Given the description of an element on the screen output the (x, y) to click on. 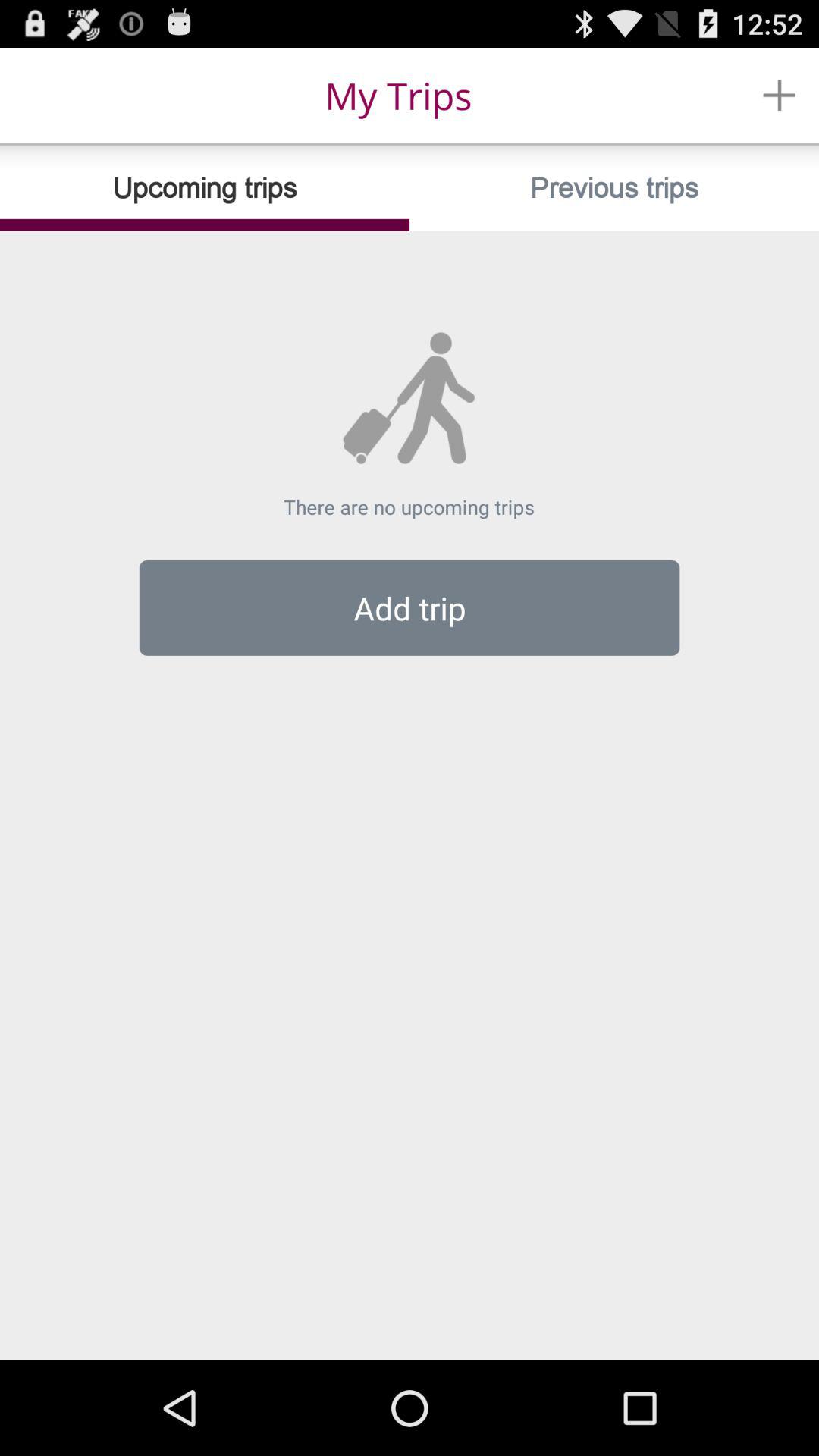
add a trip (779, 95)
